Given the description of an element on the screen output the (x, y) to click on. 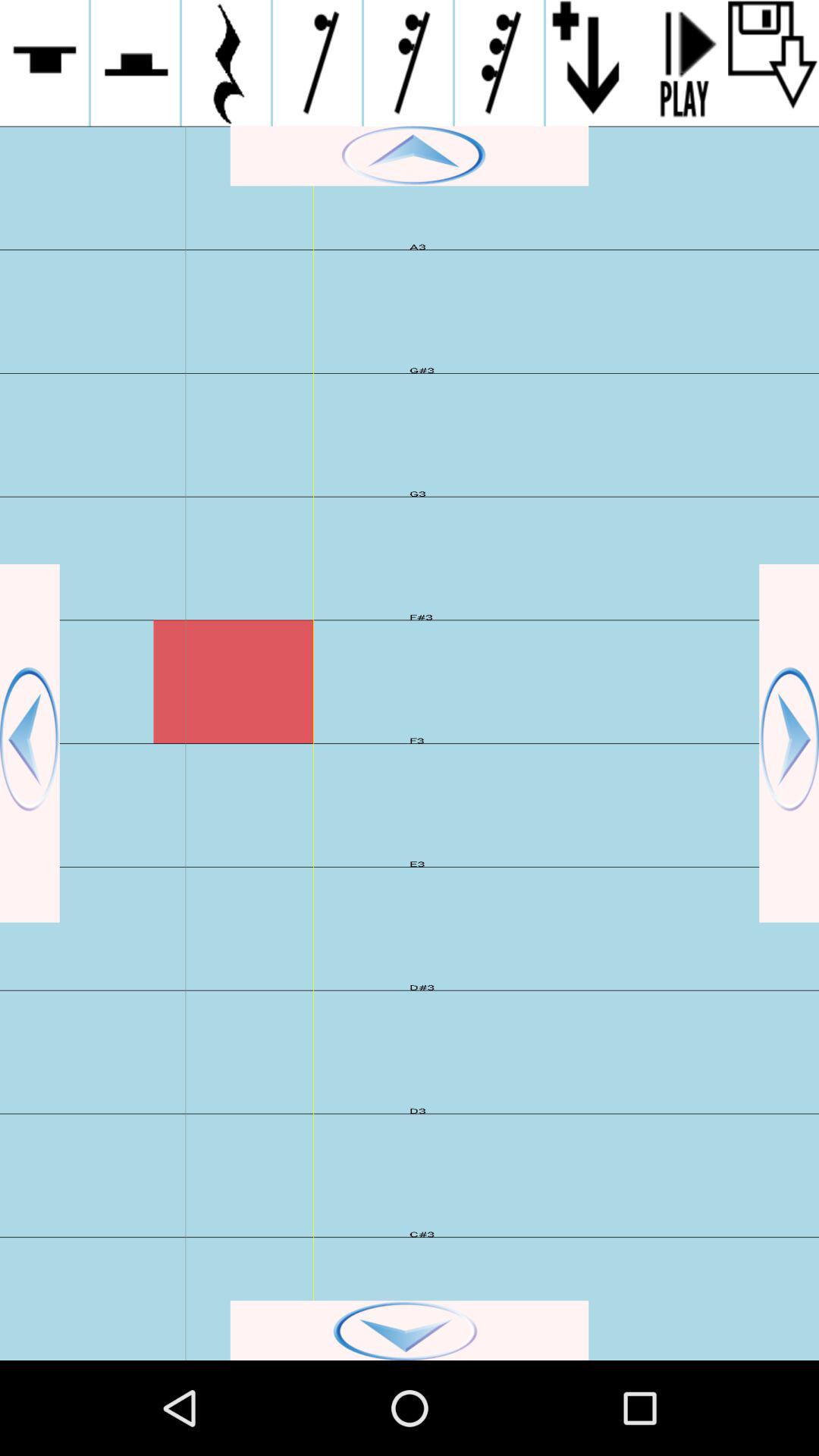
move down (409, 1330)
